Given the description of an element on the screen output the (x, y) to click on. 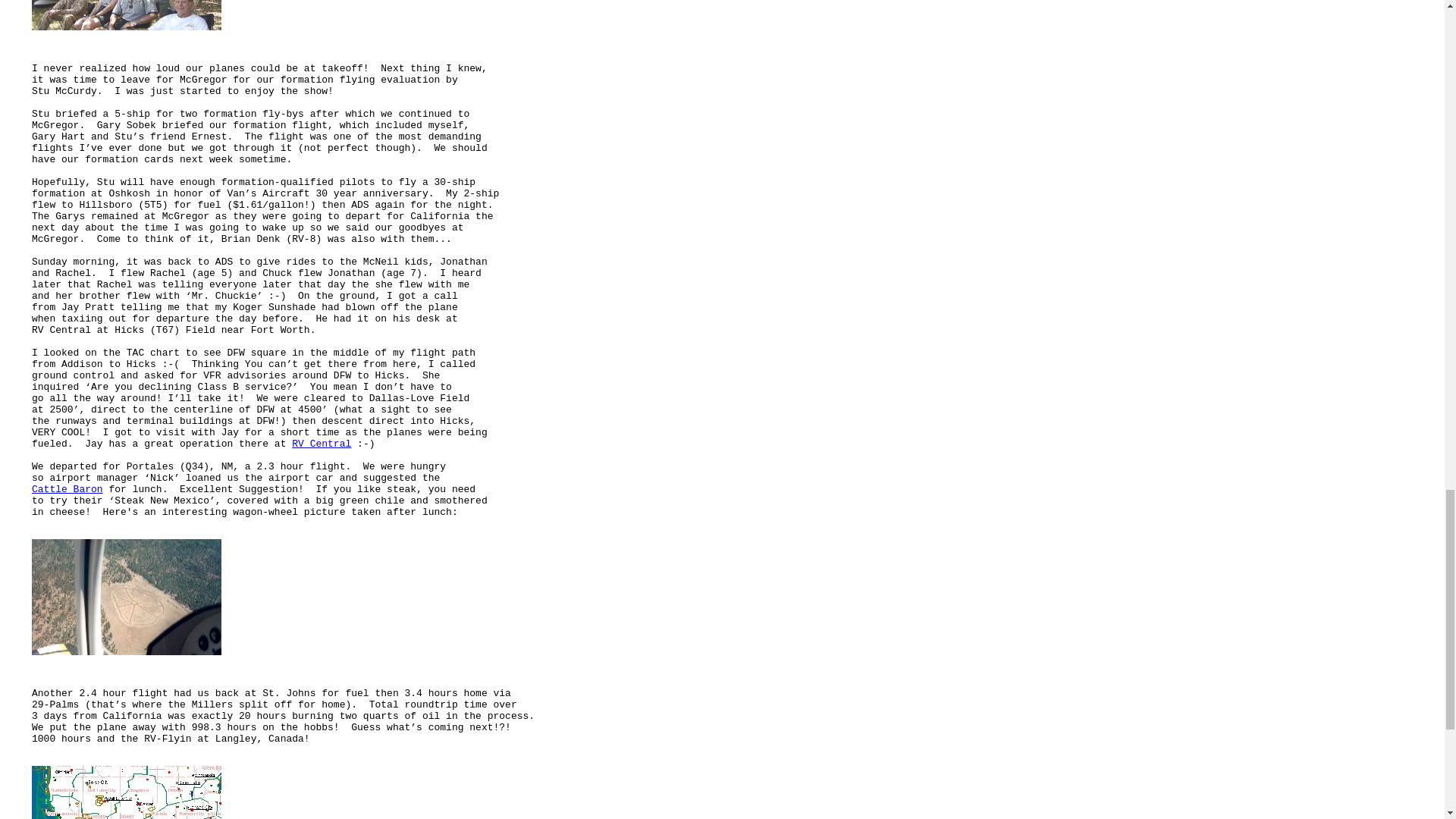
Cattle Baron (67, 489)
RV Central (321, 443)
